Given the description of an element on the screen output the (x, y) to click on. 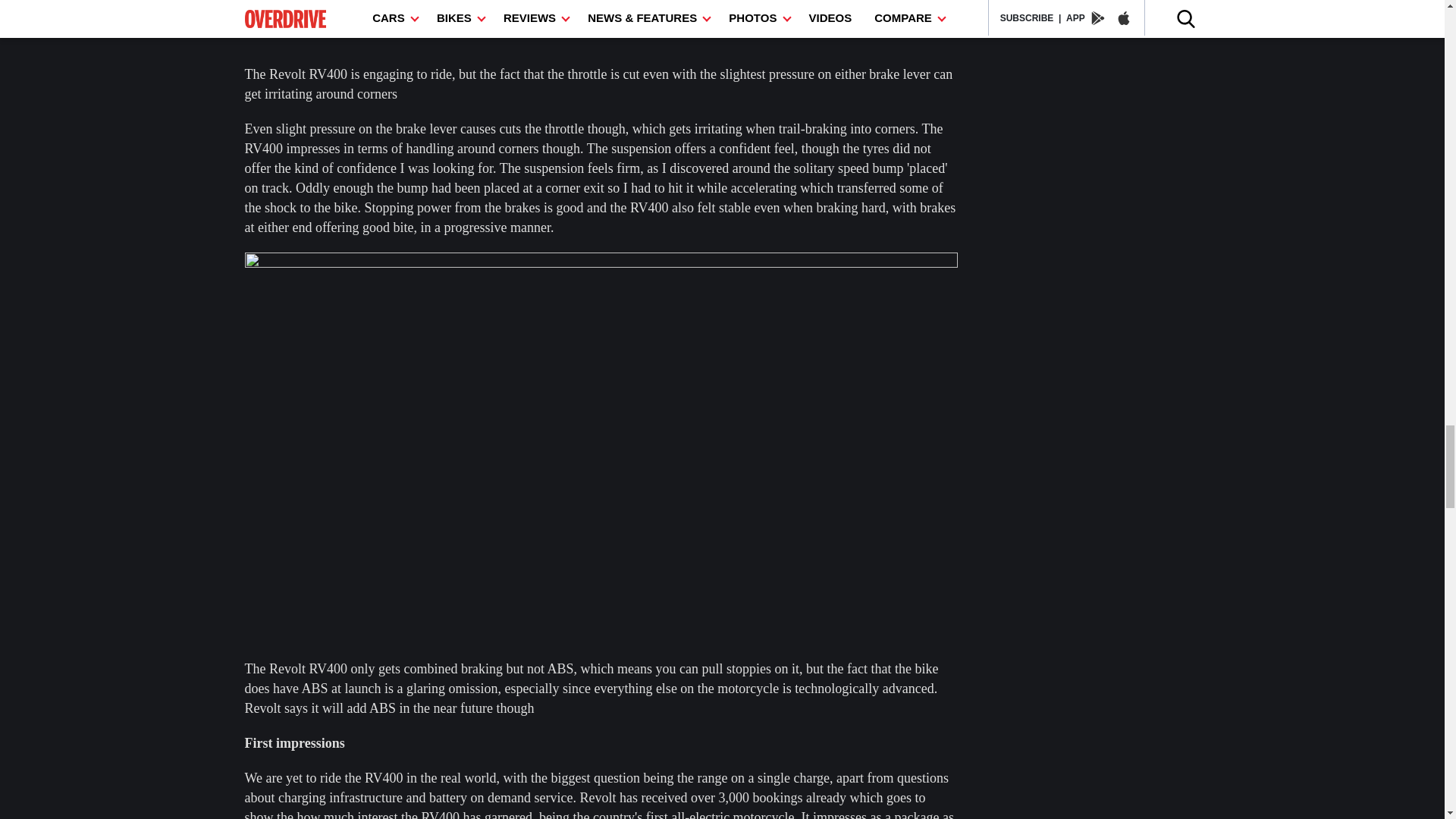
Revolt RV400 electric motorcycle - first ride review (600, 30)
